Given the description of an element on the screen output the (x, y) to click on. 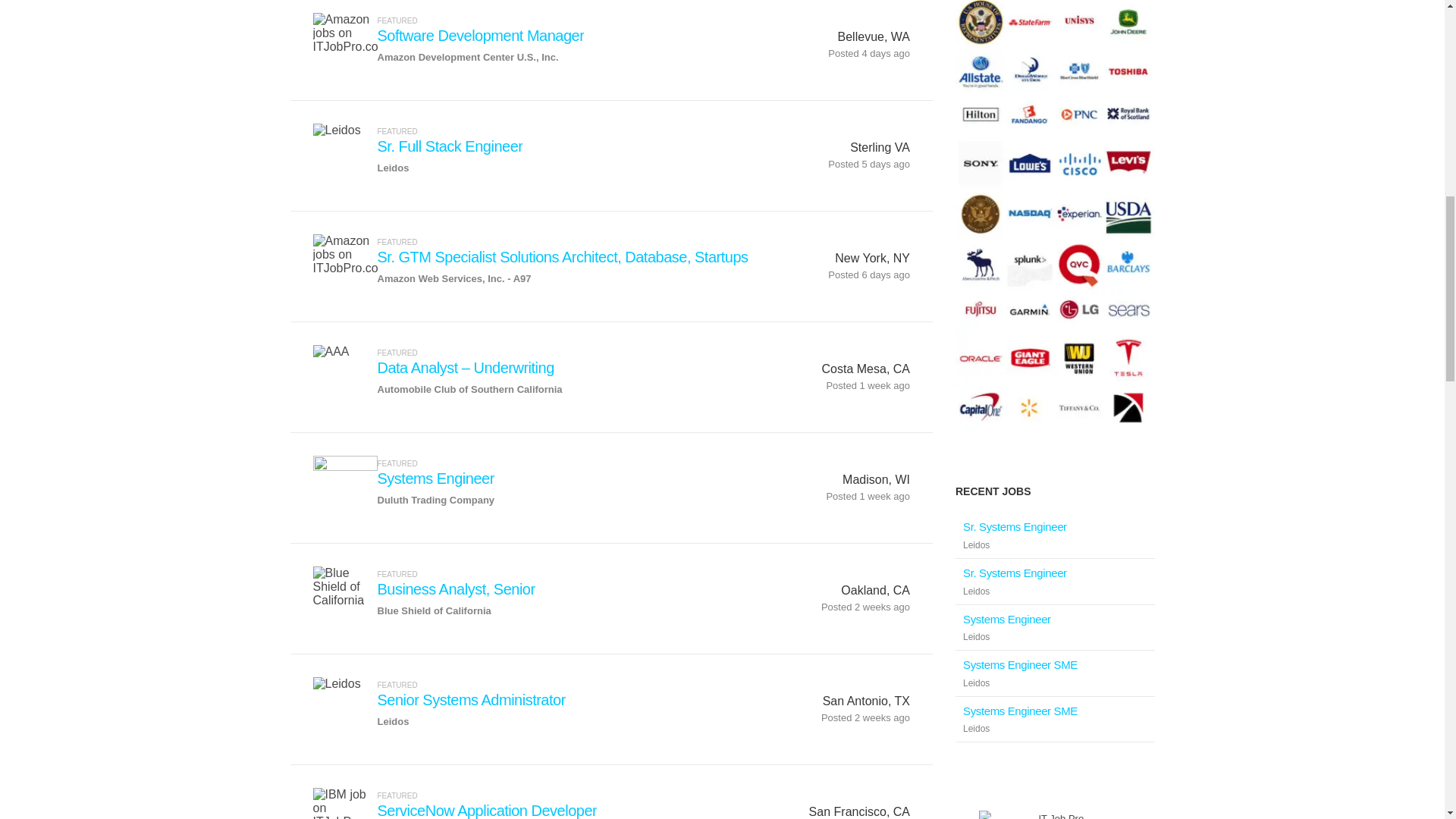
Sr. Full Stack Engineer (449, 146)
Senior Systems Administrator (471, 700)
Systems Engineer (1006, 618)
Sr. GTM Specialist Solutions Architect, Database, Startups (562, 257)
Business Analyst, Senior (456, 589)
Software Development Manager (481, 36)
Sr. Systems Engineer (1014, 572)
ServiceNow Application Developer (486, 810)
Systems Engineer (436, 478)
Sr. Systems Engineer (1014, 526)
